Given the description of an element on the screen output the (x, y) to click on. 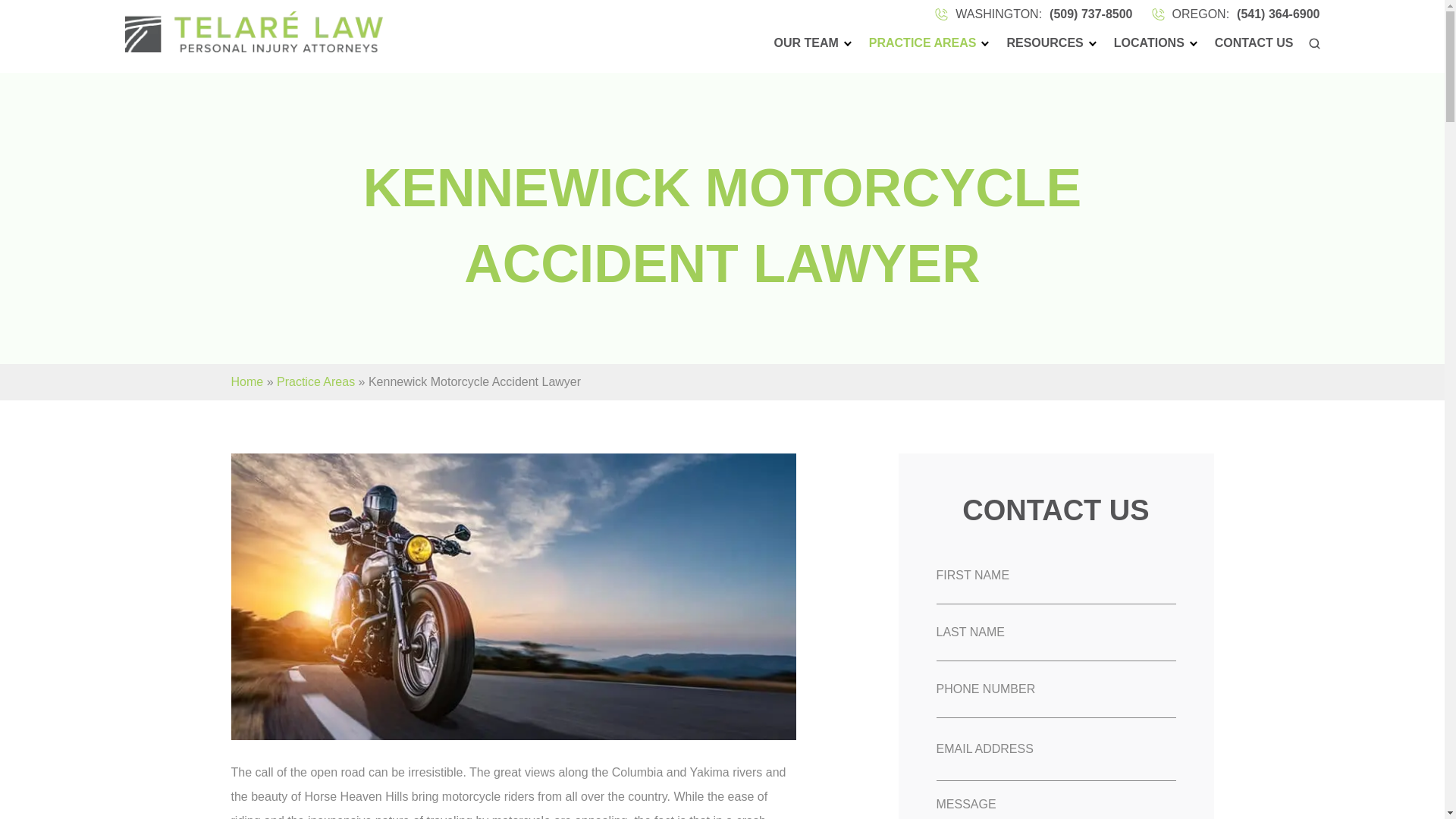
Home (246, 381)
PRACTICE AREAS (920, 43)
Practice Areas (315, 381)
OUR TEAM (803, 43)
CONTACT US (1251, 43)
RESOURCES (1042, 43)
LOCATIONS (1147, 43)
